Given the description of an element on the screen output the (x, y) to click on. 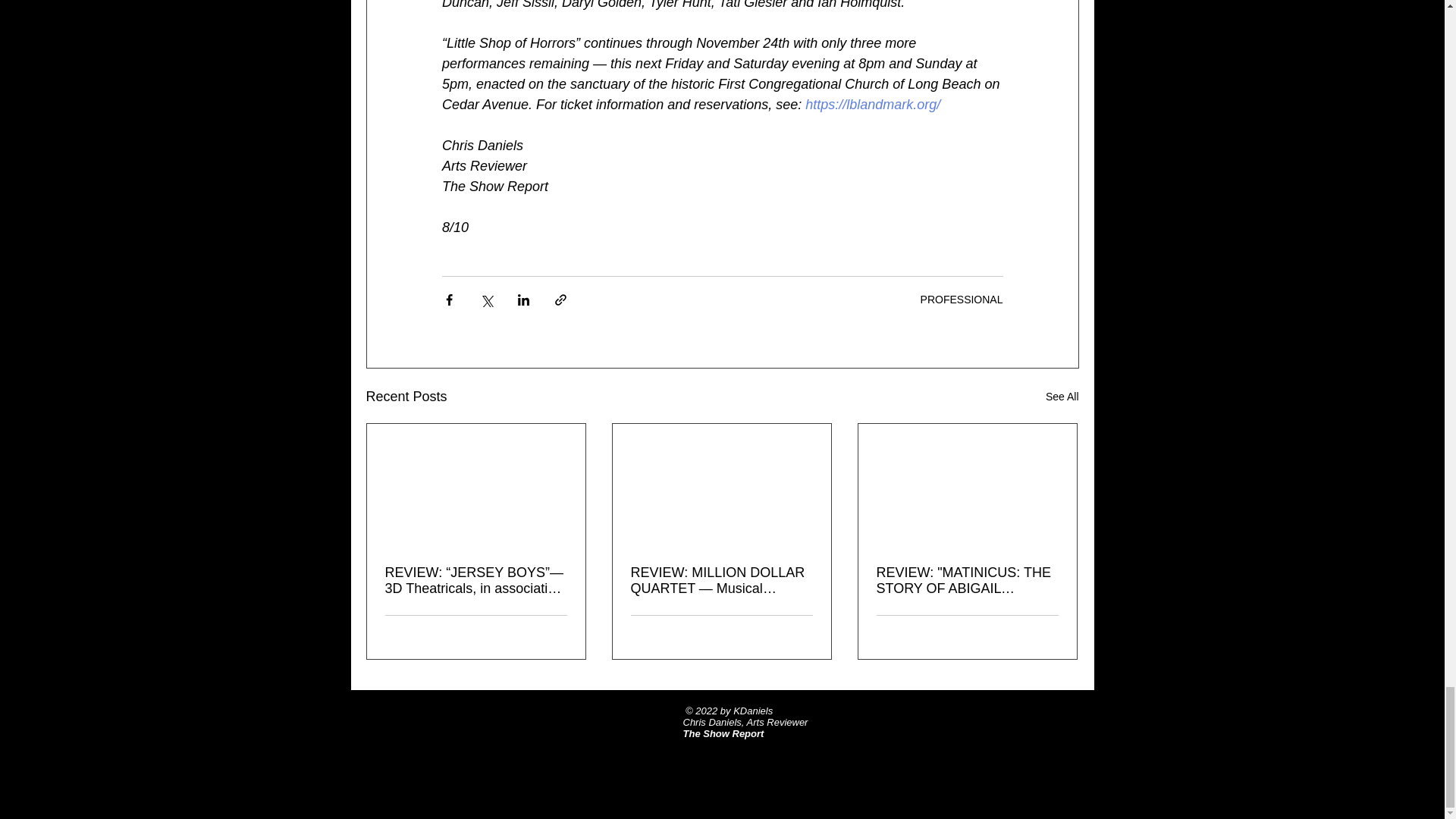
PROFESSIONAL (961, 299)
See All (1061, 396)
The Show Report (722, 733)
